Given the description of an element on the screen output the (x, y) to click on. 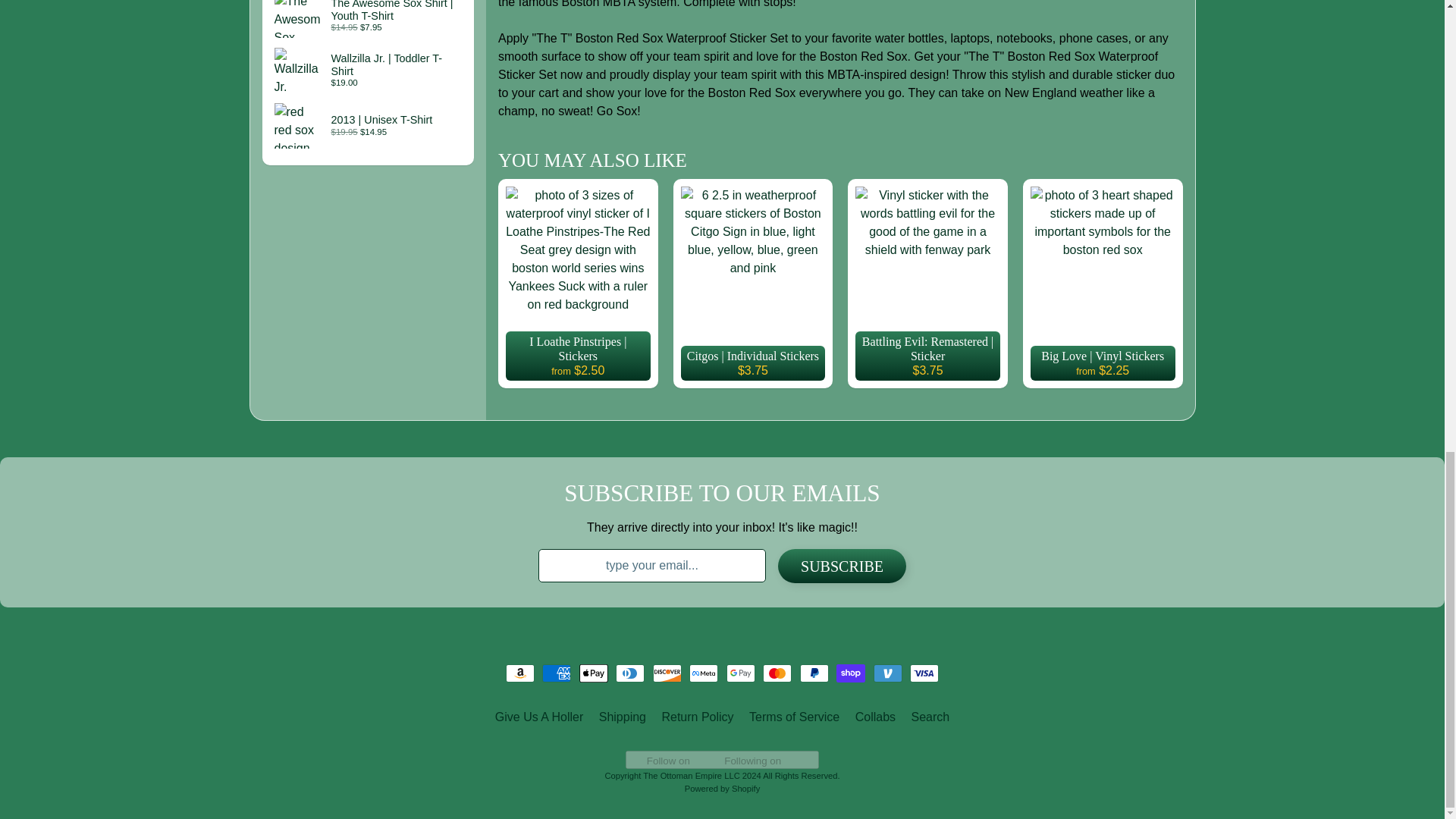
Meta Pay (702, 673)
Google Pay (740, 673)
Visa (924, 673)
Discover (666, 673)
Mastercard (777, 673)
Amazon (519, 673)
Shop Pay (849, 673)
PayPal (813, 673)
Apple Pay (593, 673)
Venmo (887, 673)
American Express (555, 673)
Diners Club (630, 673)
